Given the description of an element on the screen output the (x, y) to click on. 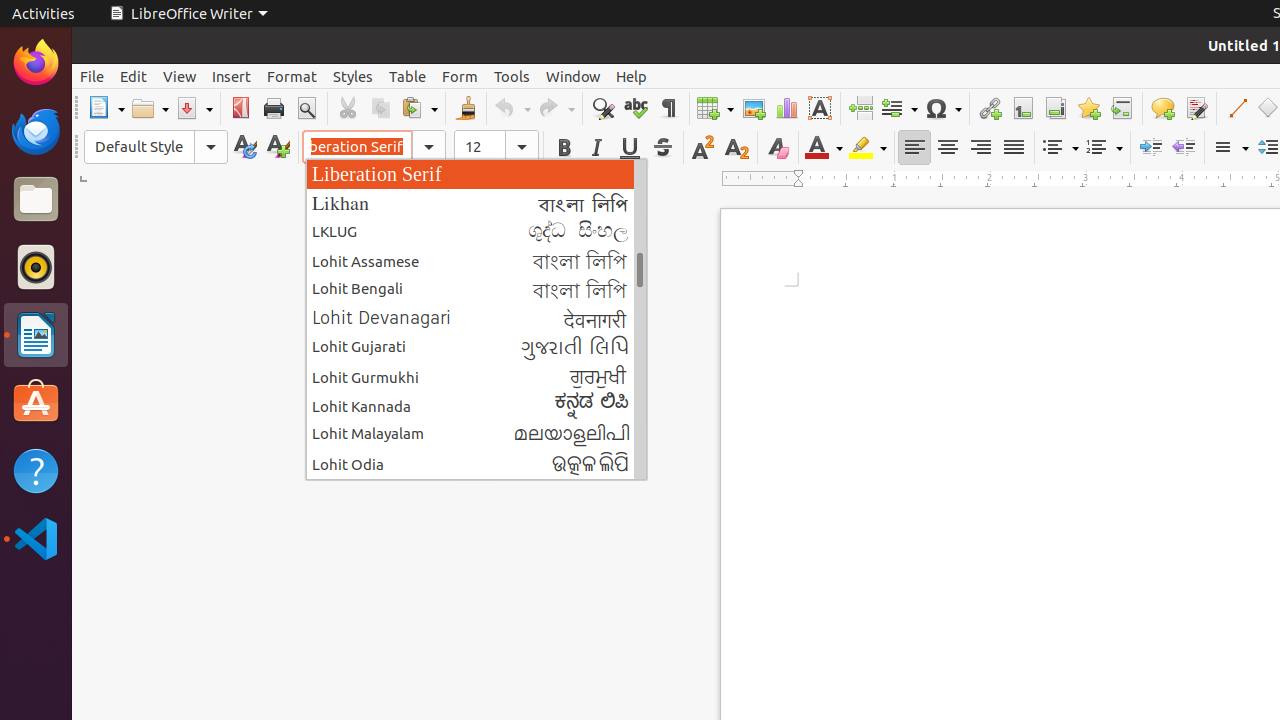
Font Color Element type: push-button (824, 147)
LibreOffice Writer Element type: menu (188, 13)
Likhan Element type: list-item (476, 202)
Endnote Element type: push-button (1055, 108)
Table Element type: push-button (715, 108)
